Given the description of an element on the screen output the (x, y) to click on. 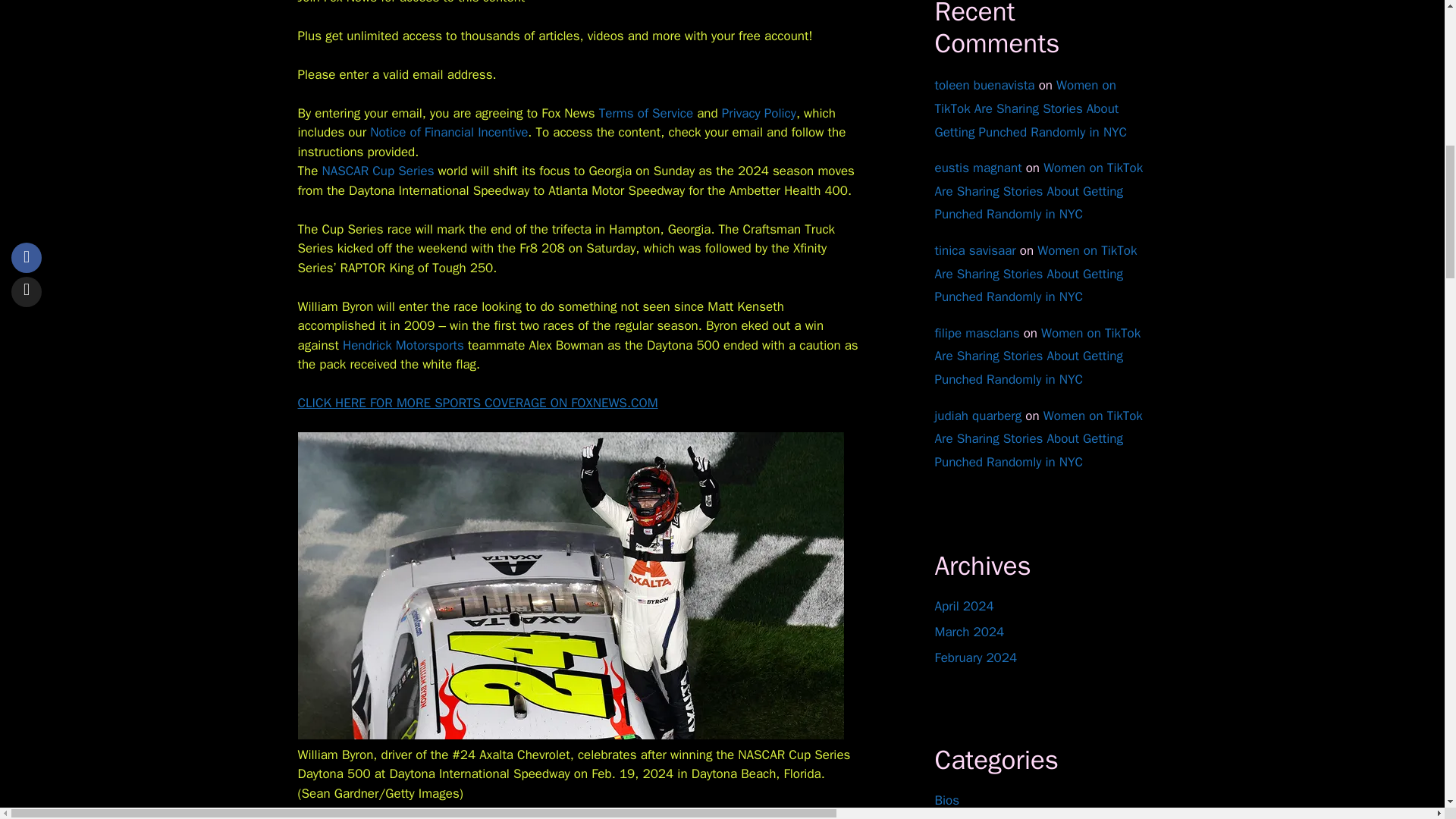
Terms of Service (645, 113)
Notice of Financial Incentive (448, 132)
Privacy Policy (759, 113)
NASCAR Cup Series (377, 170)
Hendrick Motorsports (403, 344)
